Given the description of an element on the screen output the (x, y) to click on. 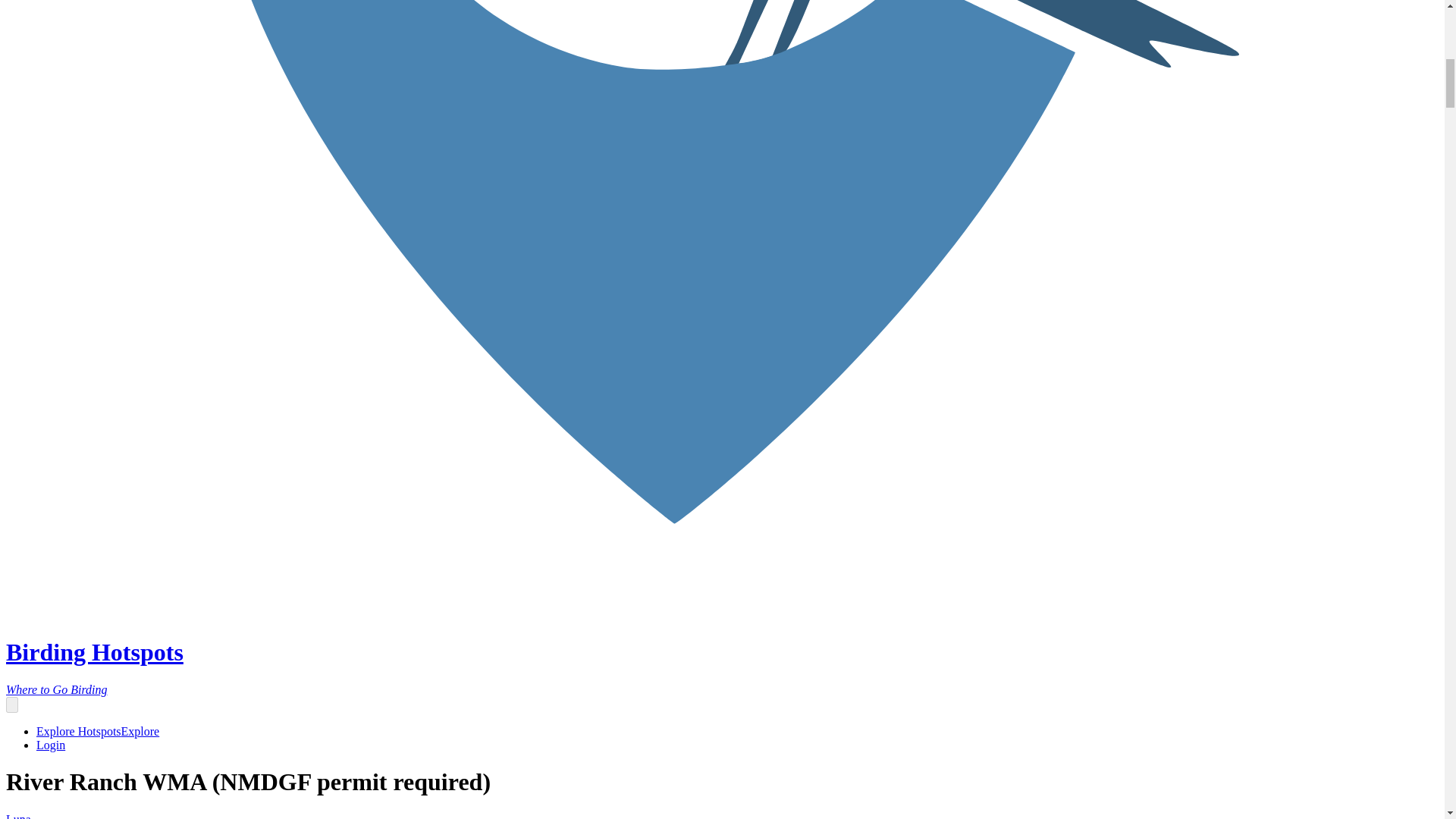
Login (50, 744)
Explore HotspotsExplore (97, 730)
Luna (17, 816)
